Given the description of an element on the screen output the (x, y) to click on. 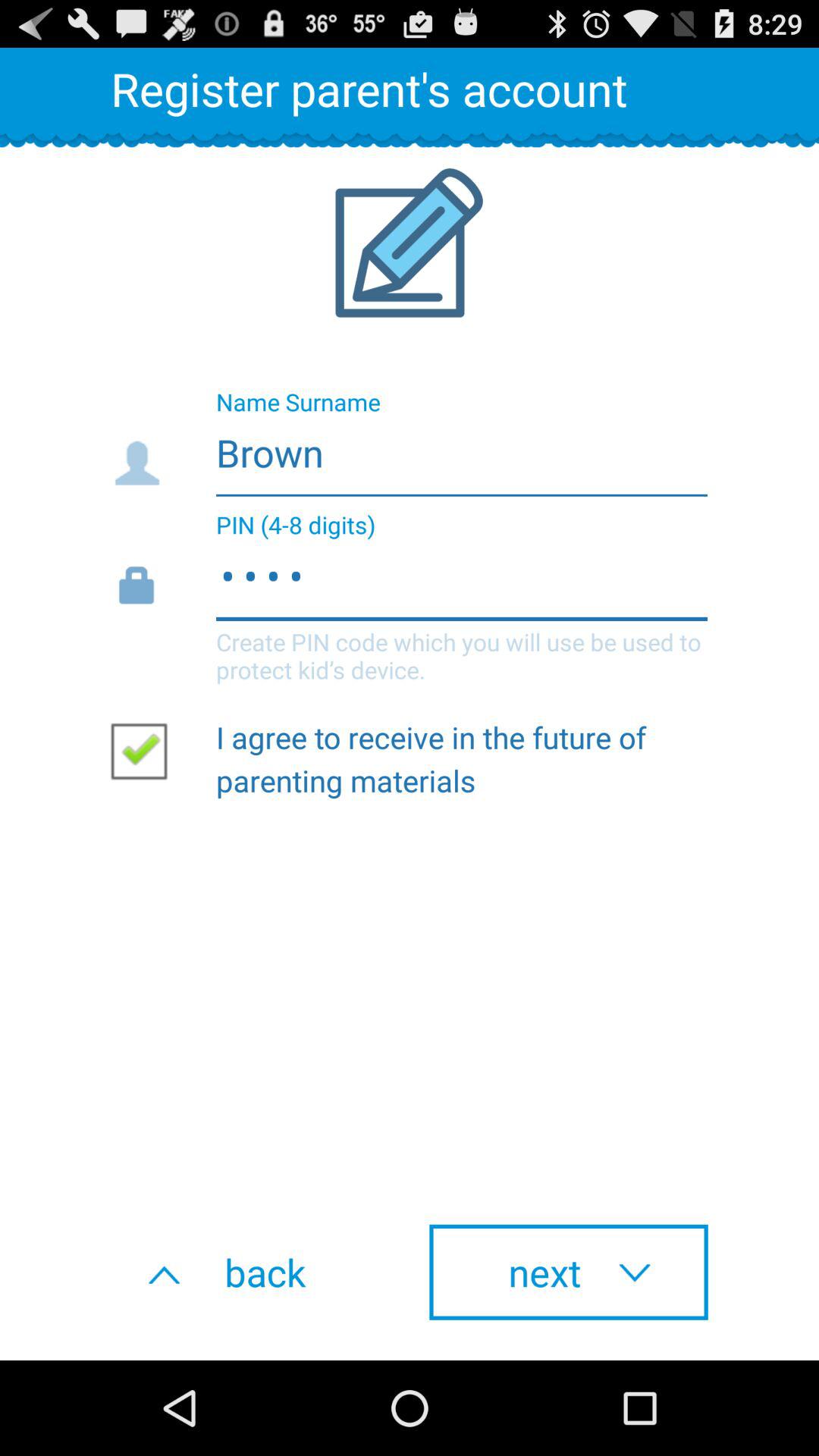
tap item below the 1234 (145, 750)
